Given the description of an element on the screen output the (x, y) to click on. 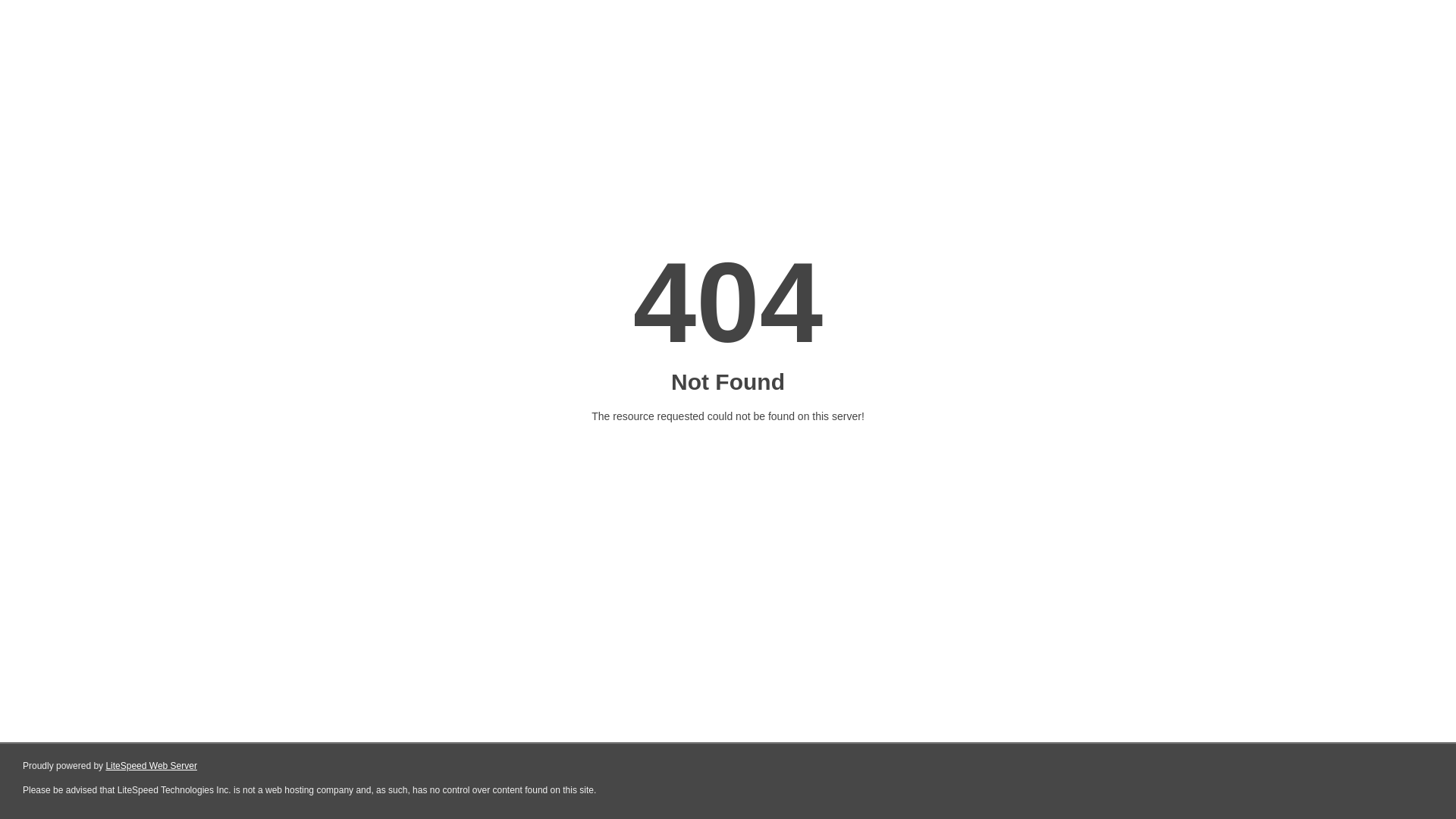
LiteSpeed Web Server Element type: text (151, 765)
